Given the description of an element on the screen output the (x, y) to click on. 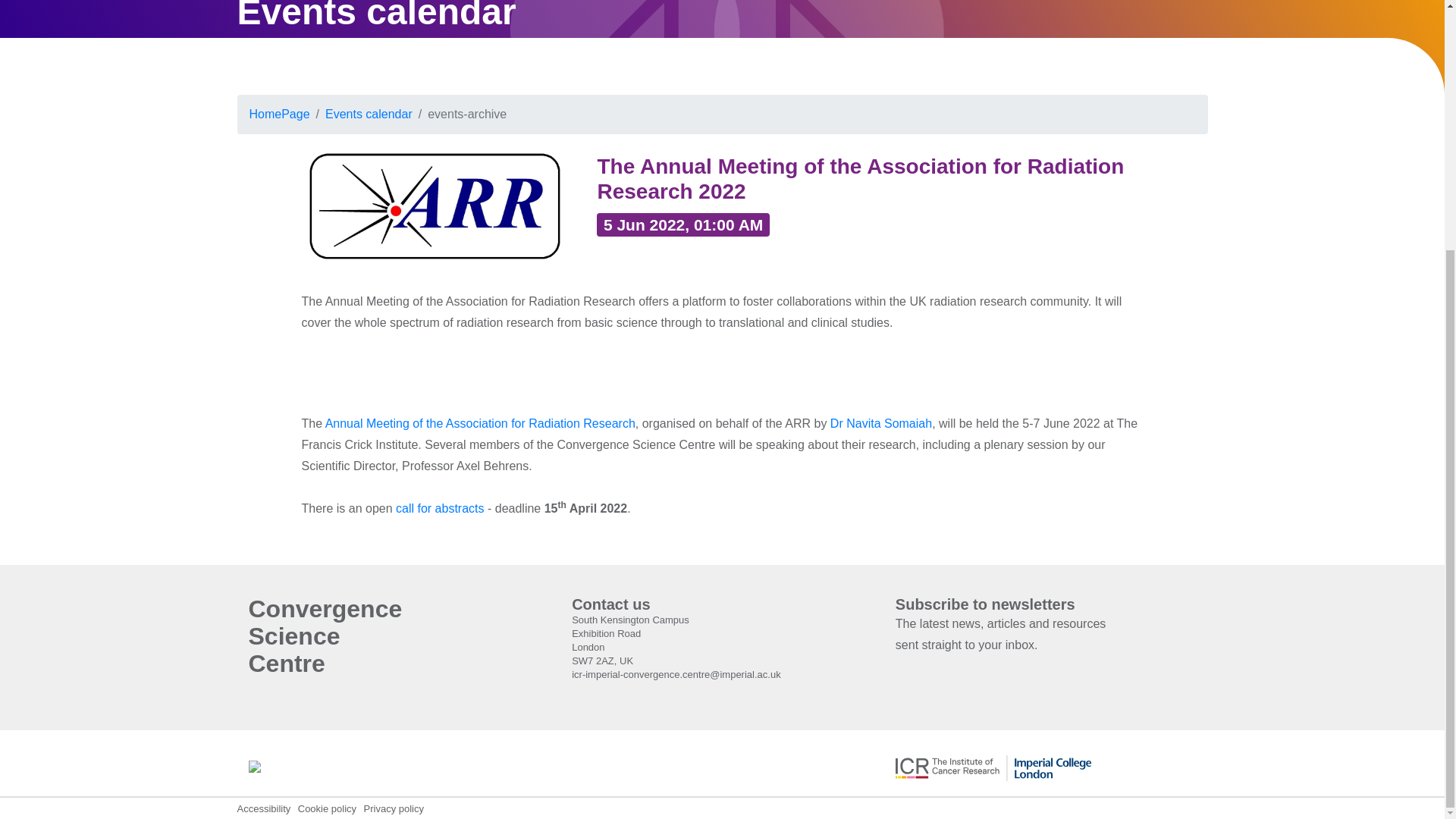
HomePage (278, 113)
Events calendar (368, 113)
Annual Meeting of the Association for Radiation Research (479, 422)
